Given the description of an element on the screen output the (x, y) to click on. 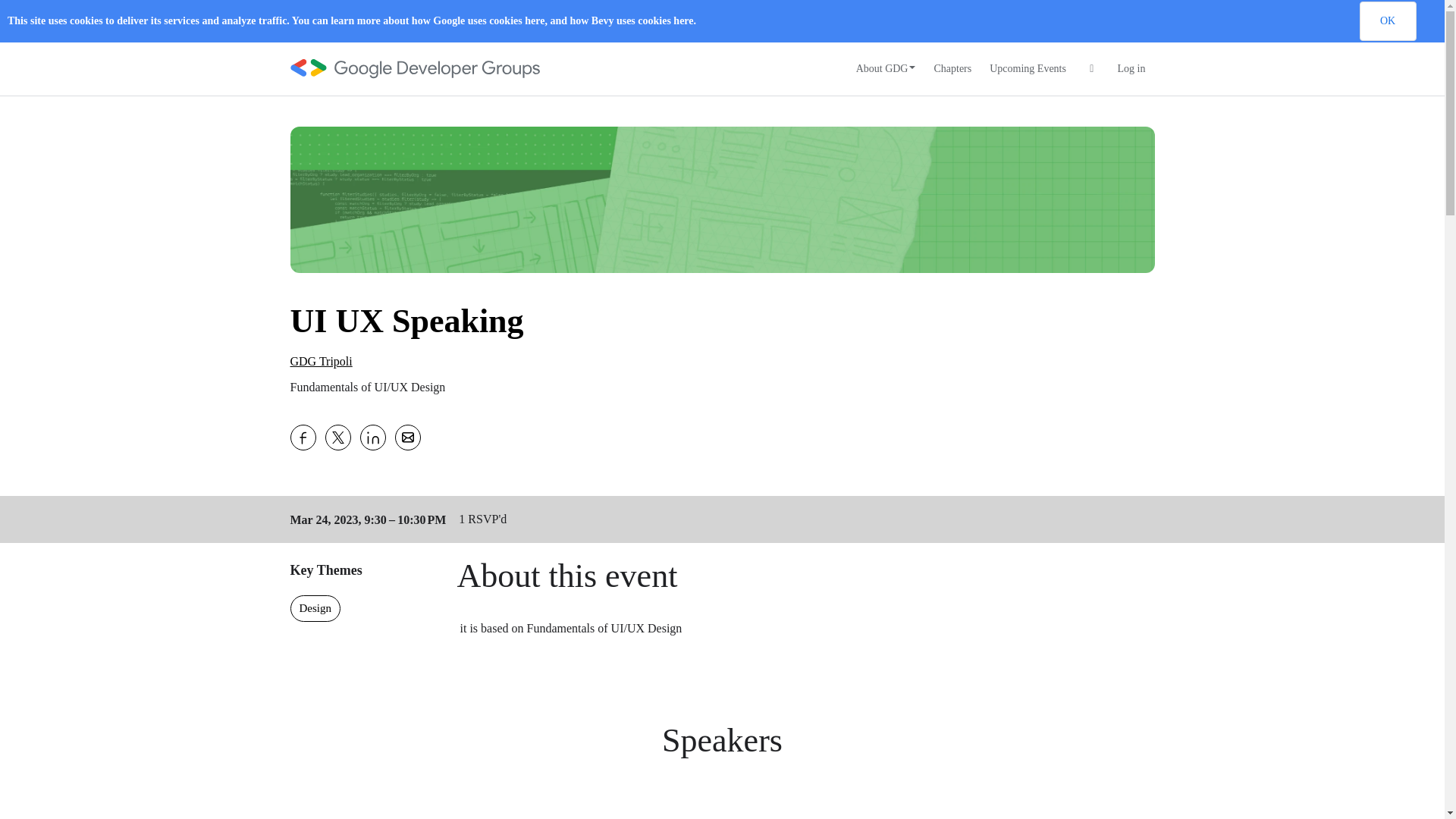
About GDG (885, 68)
Design (314, 608)
Upcoming Events (1027, 68)
OK (1386, 20)
GDG Tripoli (320, 361)
Chapters (951, 68)
here (534, 20)
here (682, 20)
